Given the description of an element on the screen output the (x, y) to click on. 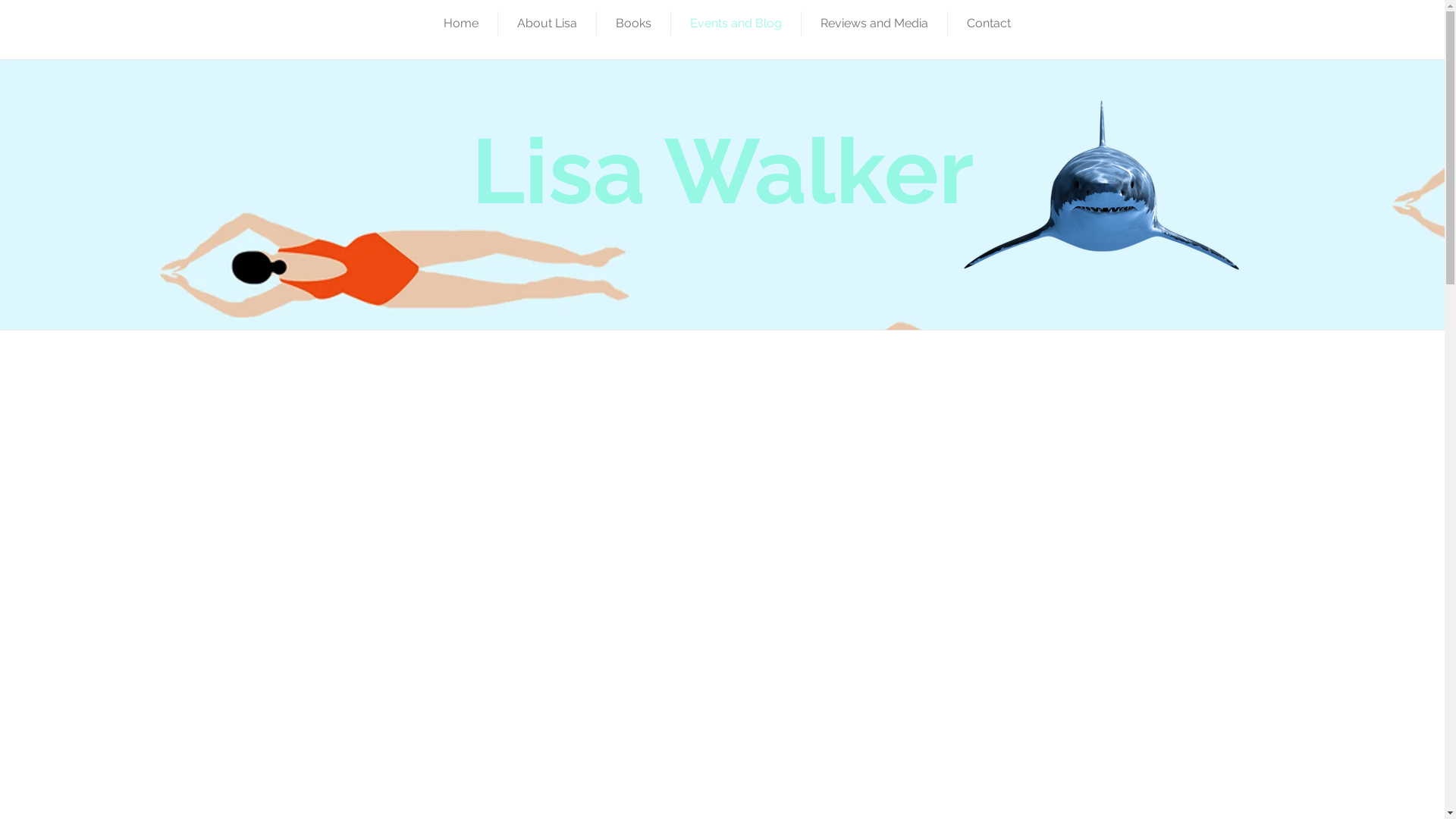
Lisa Walker Element type: text (722, 170)
Contact Element type: text (988, 23)
About Lisa Element type: text (547, 23)
Books Element type: text (633, 23)
Home Element type: text (460, 23)
Reviews and Media Element type: text (874, 23)
Events and Blog Element type: text (735, 23)
